Given the description of an element on the screen output the (x, y) to click on. 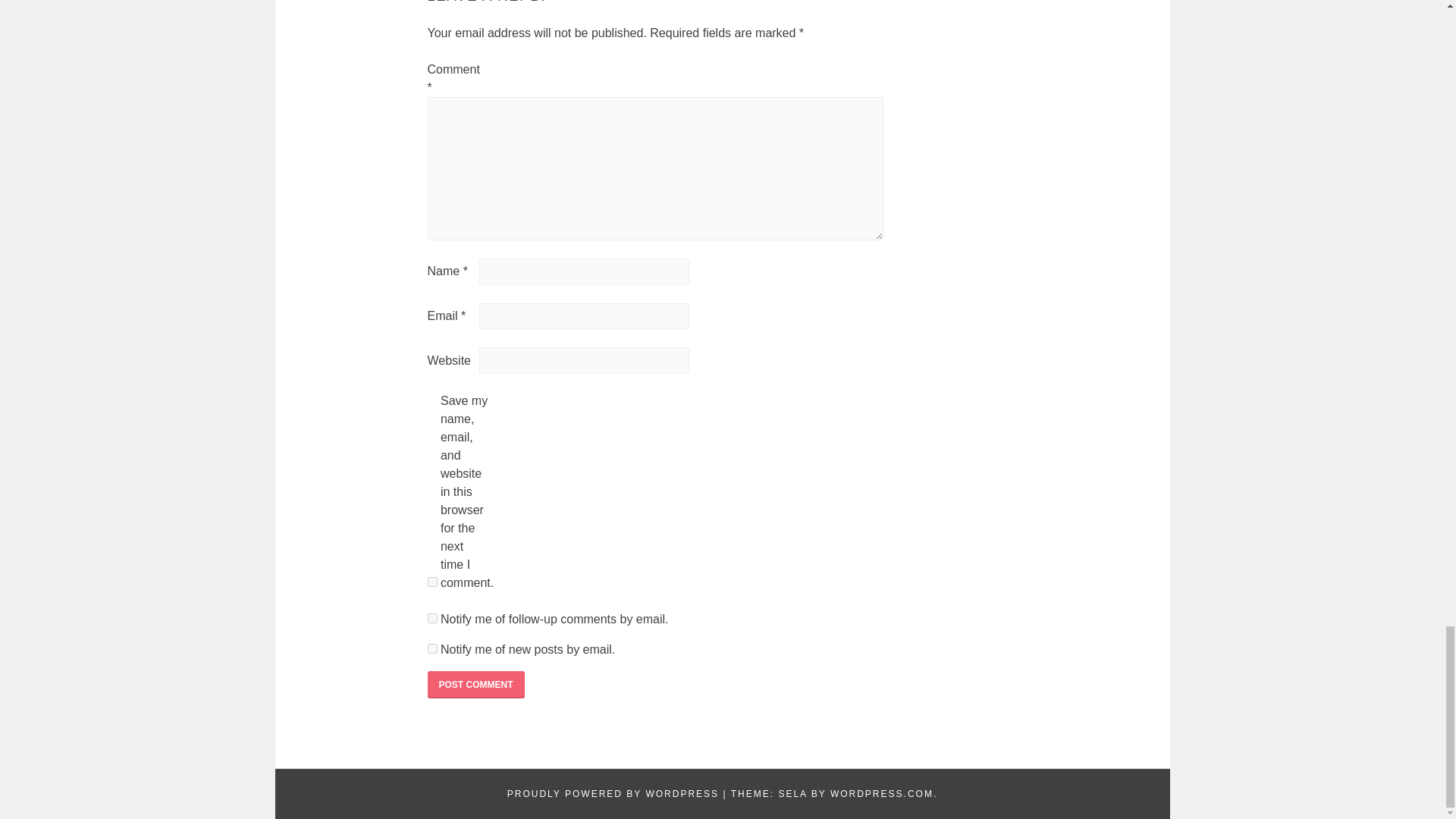
subscribe (433, 618)
Post Comment (476, 684)
yes (433, 582)
subscribe (433, 648)
A Semantic Personal Publishing Platform (612, 793)
